Given the description of an element on the screen output the (x, y) to click on. 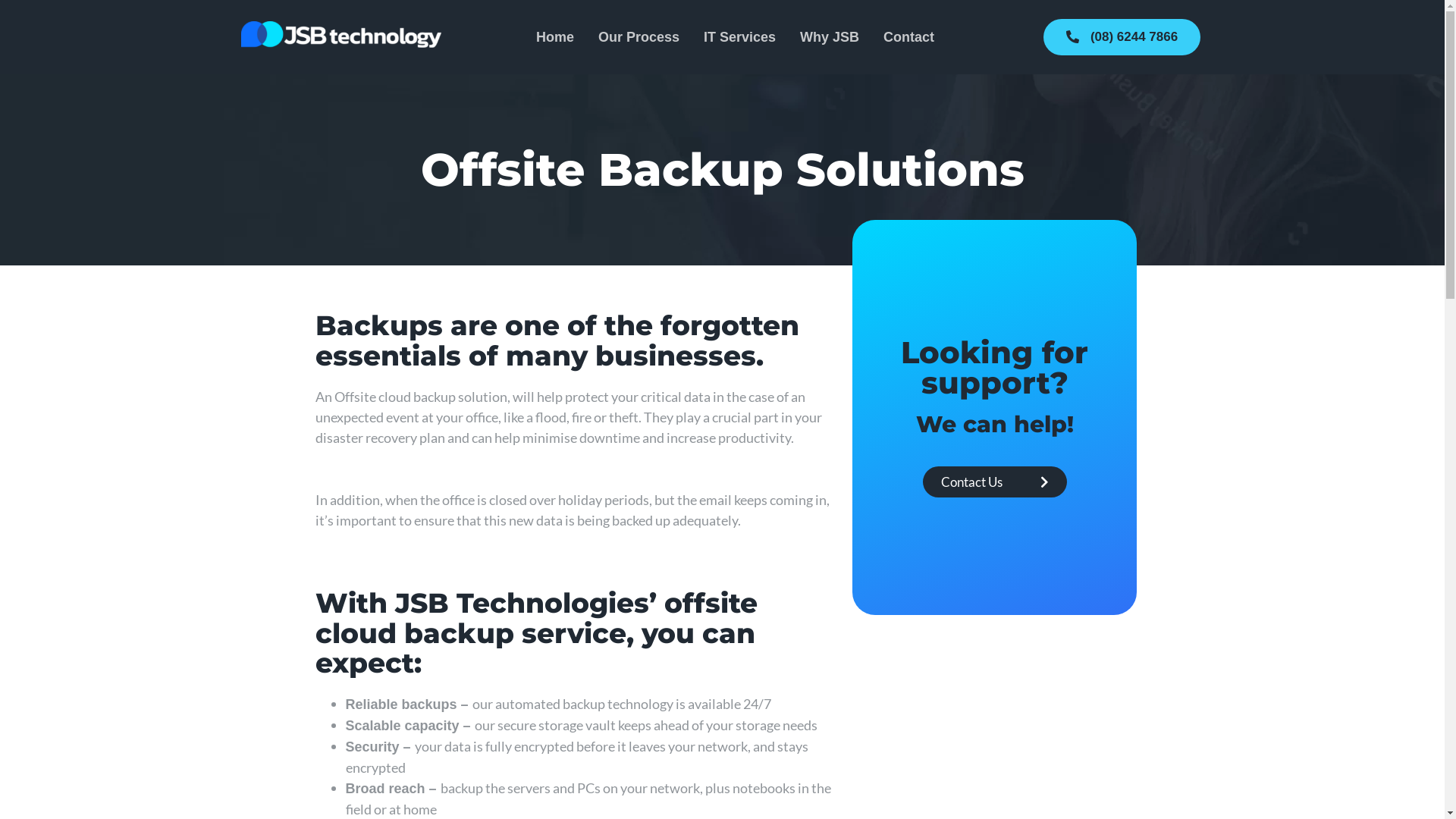
(08) 6244 7866 Element type: text (1121, 36)
IT Services Element type: text (739, 36)
Our Process Element type: text (638, 36)
Why JSB Element type: text (829, 36)
Home Element type: text (555, 36)
Contact Us Element type: text (994, 481)
Contact Element type: text (908, 36)
